Given the description of an element on the screen output the (x, y) to click on. 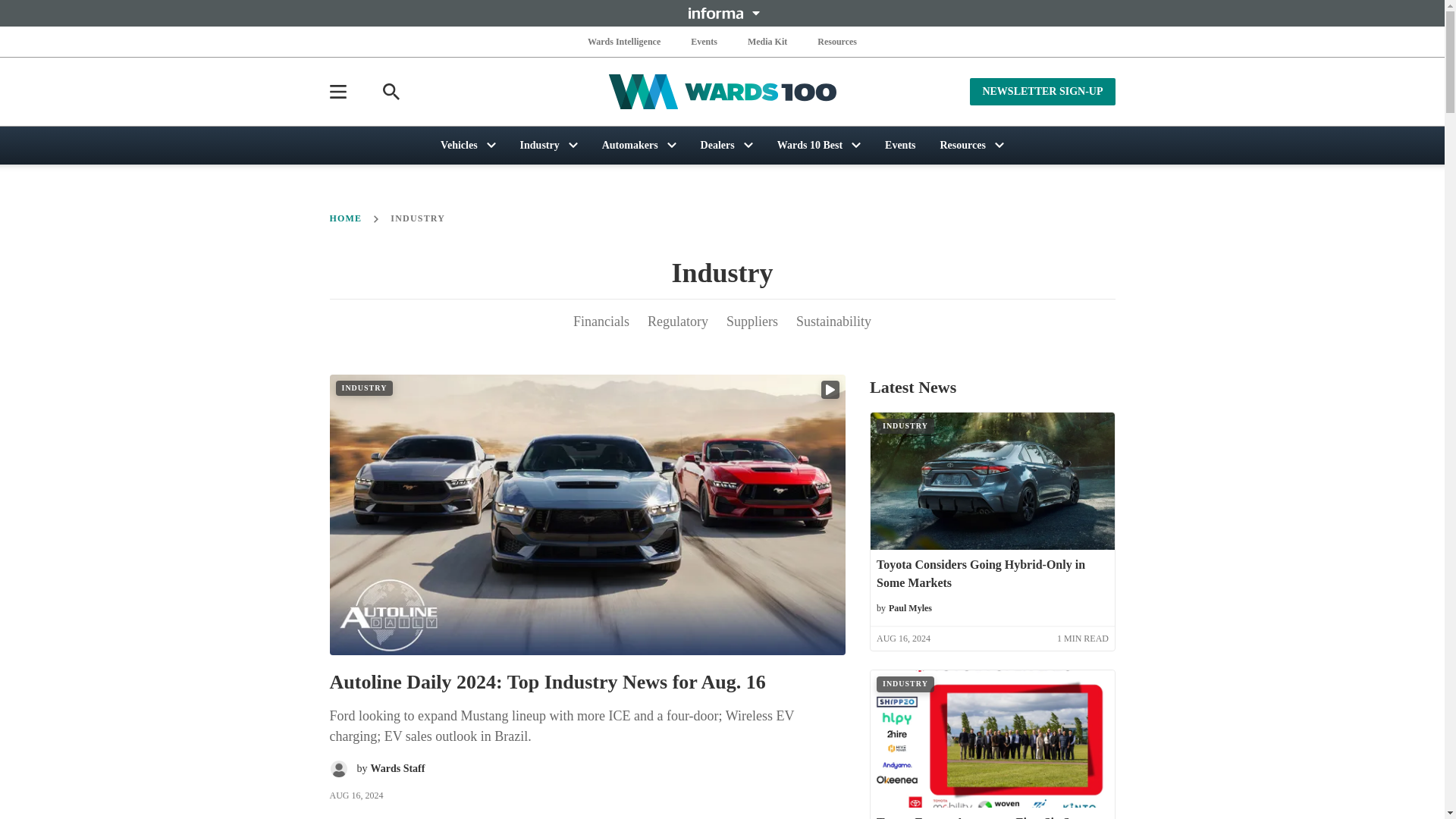
Resources (836, 41)
NEWSLETTER SIGN-UP (1042, 90)
Media Kit (767, 41)
Wards Auto 100 Logo (721, 91)
Picture of Wards Staff (338, 769)
Events (703, 41)
Link to all video (829, 389)
Wards Intelligence (624, 41)
